Given the description of an element on the screen output the (x, y) to click on. 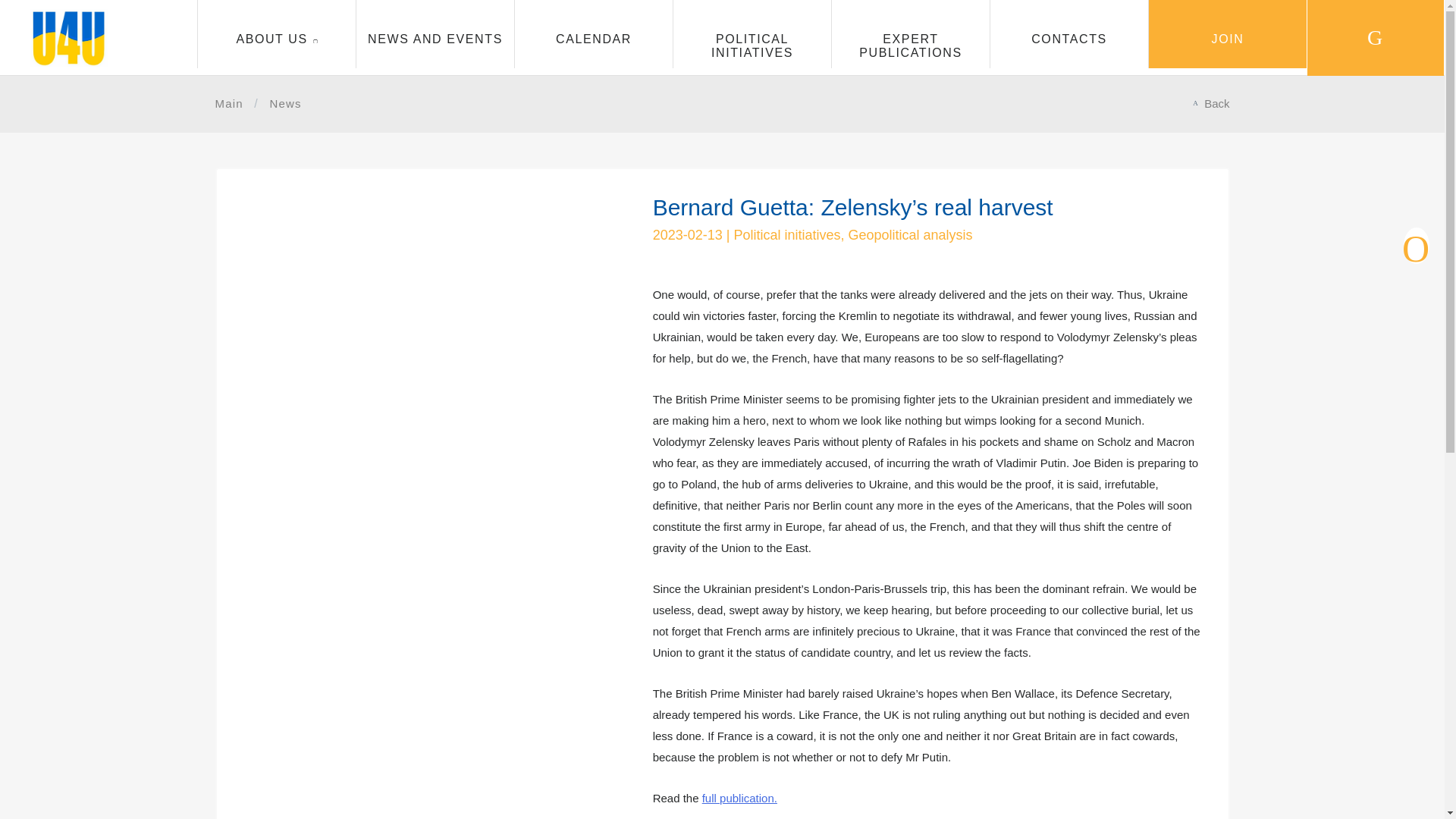
CALENDAR (593, 33)
EXPERT PUBLICATIONS (910, 33)
full publication. (739, 797)
Main (229, 104)
News (285, 104)
News (285, 104)
NEWS AND EVENTS (434, 33)
Main (229, 104)
Back (1216, 104)
JOIN (1227, 33)
U4U (68, 62)
ABOUT US (276, 33)
POLITICAL INITIATIVES (751, 33)
CONTACTS (1069, 33)
